Given the description of an element on the screen output the (x, y) to click on. 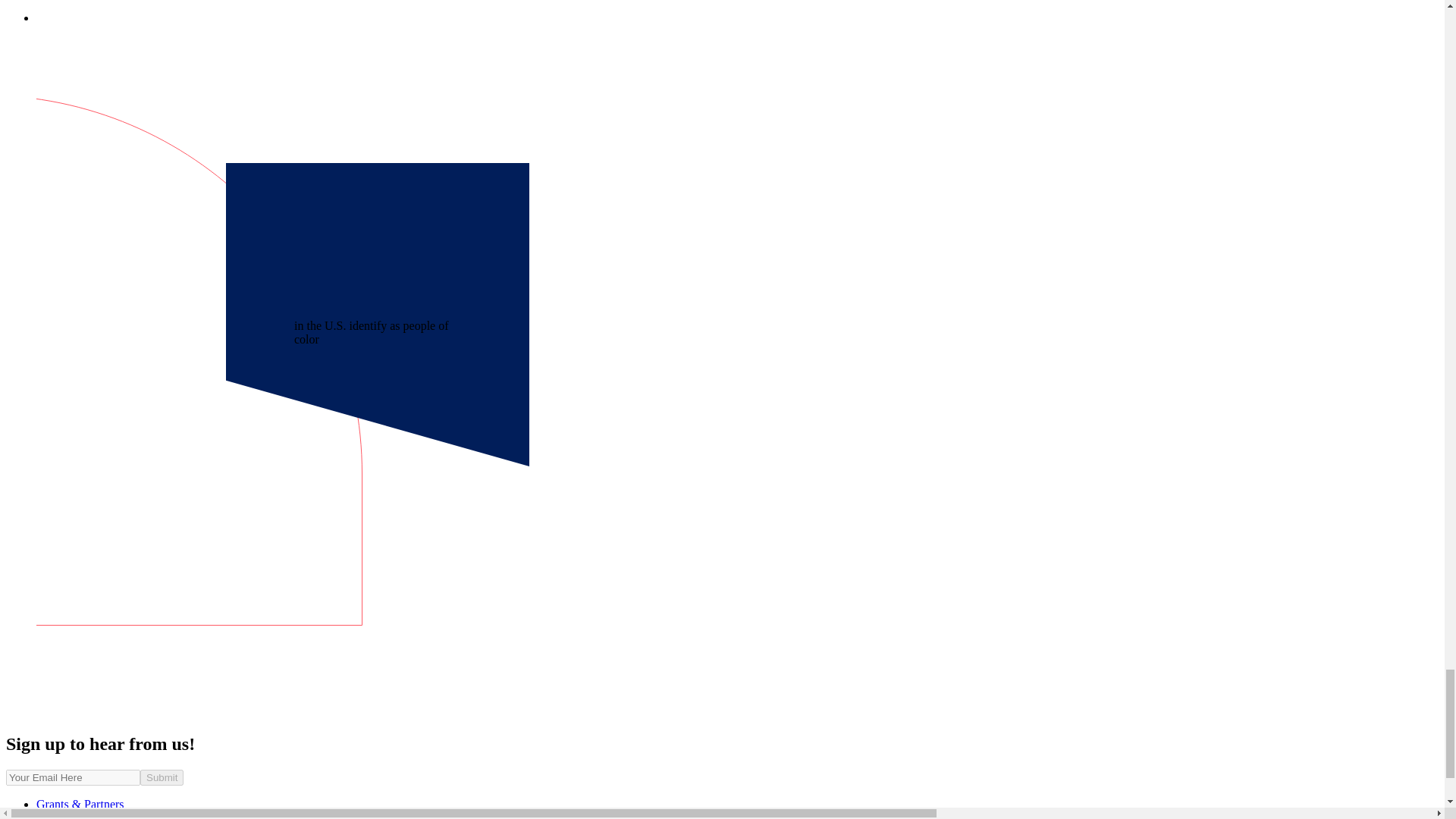
Submit (161, 777)
Careers (55, 815)
